Given the description of an element on the screen output the (x, y) to click on. 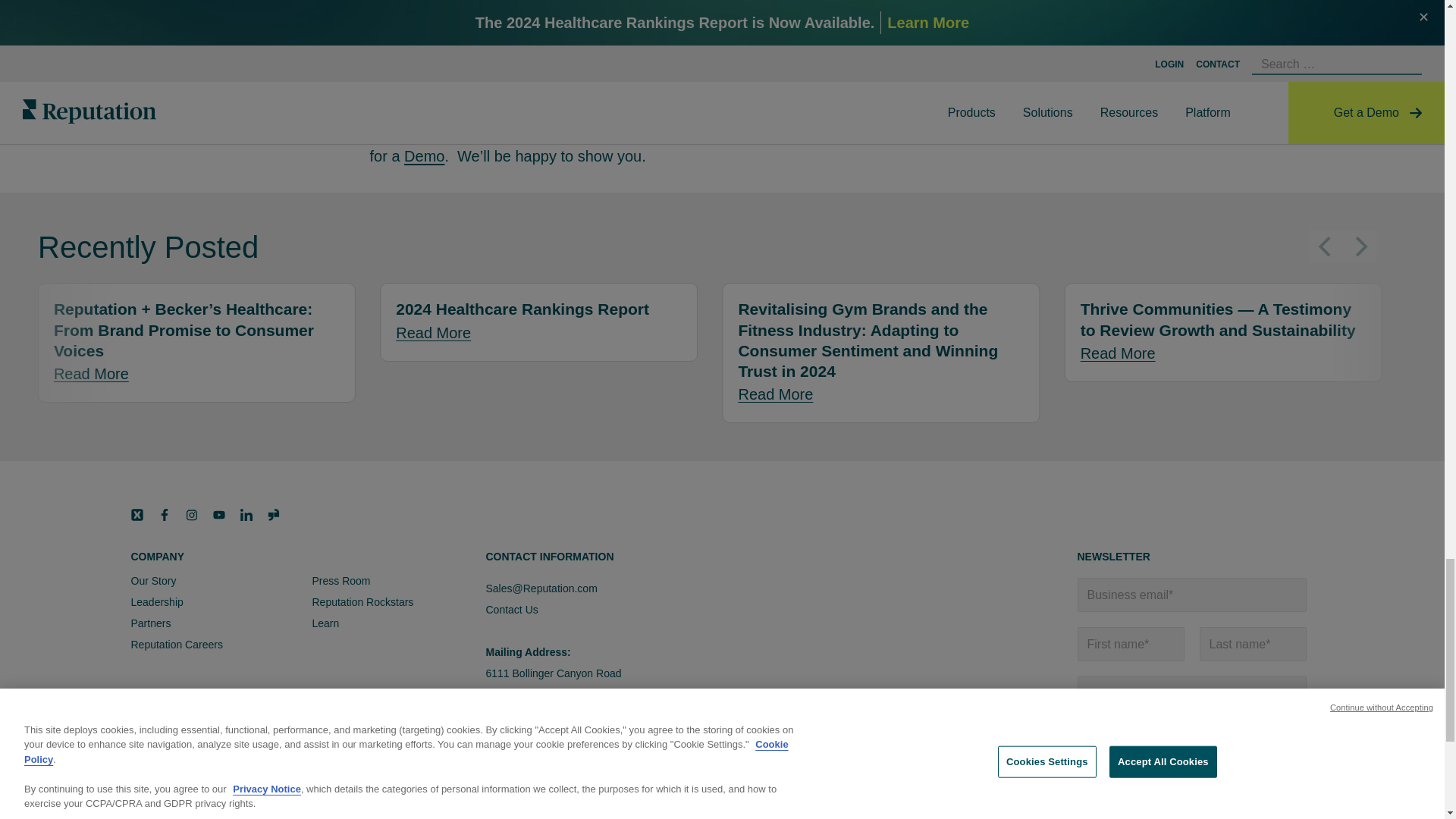
Layer 1 (272, 514)
Submit (1112, 779)
